Given the description of an element on the screen output the (x, y) to click on. 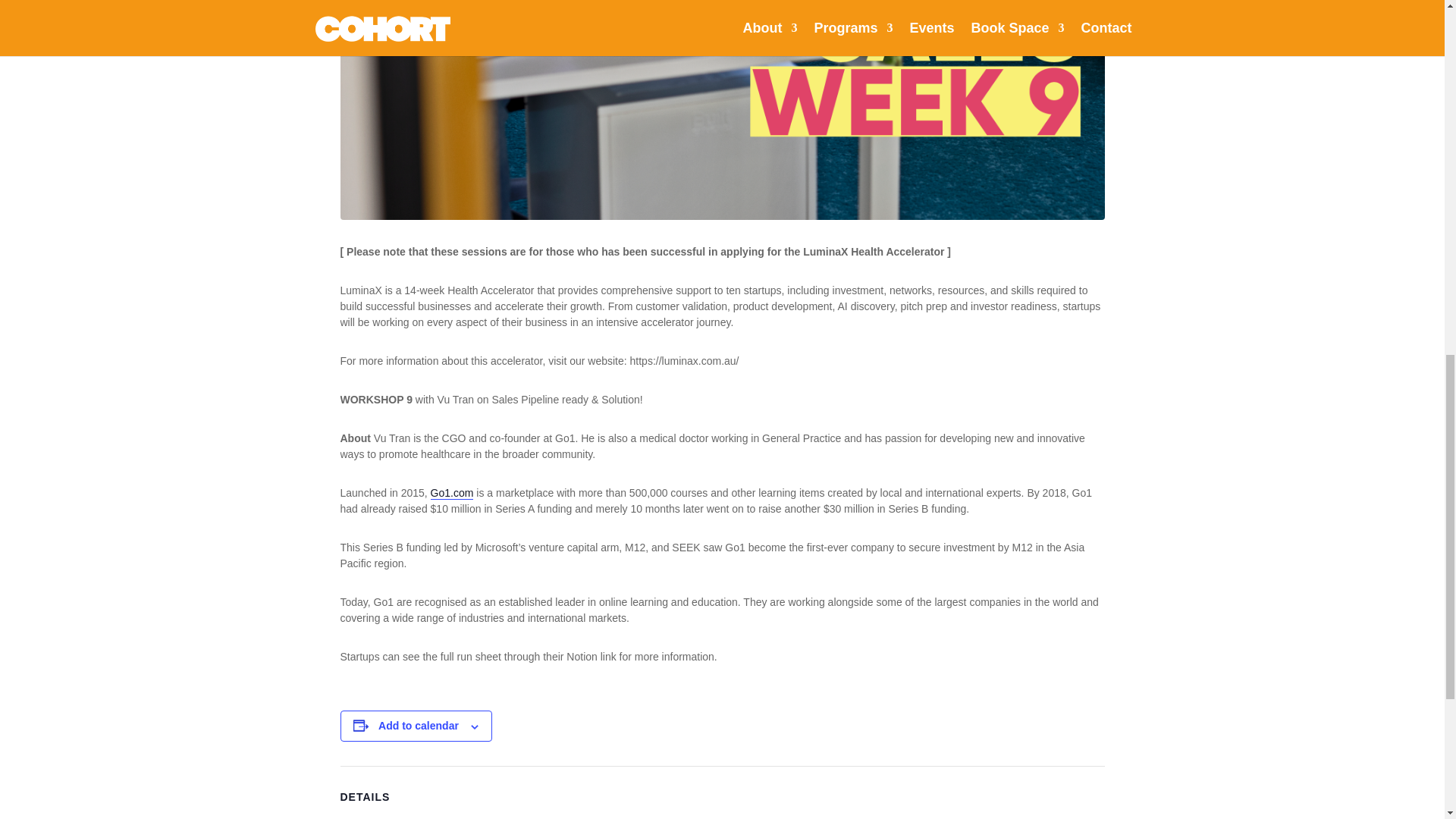
Add to calendar (418, 725)
Go1.com (452, 492)
